Given the description of an element on the screen output the (x, y) to click on. 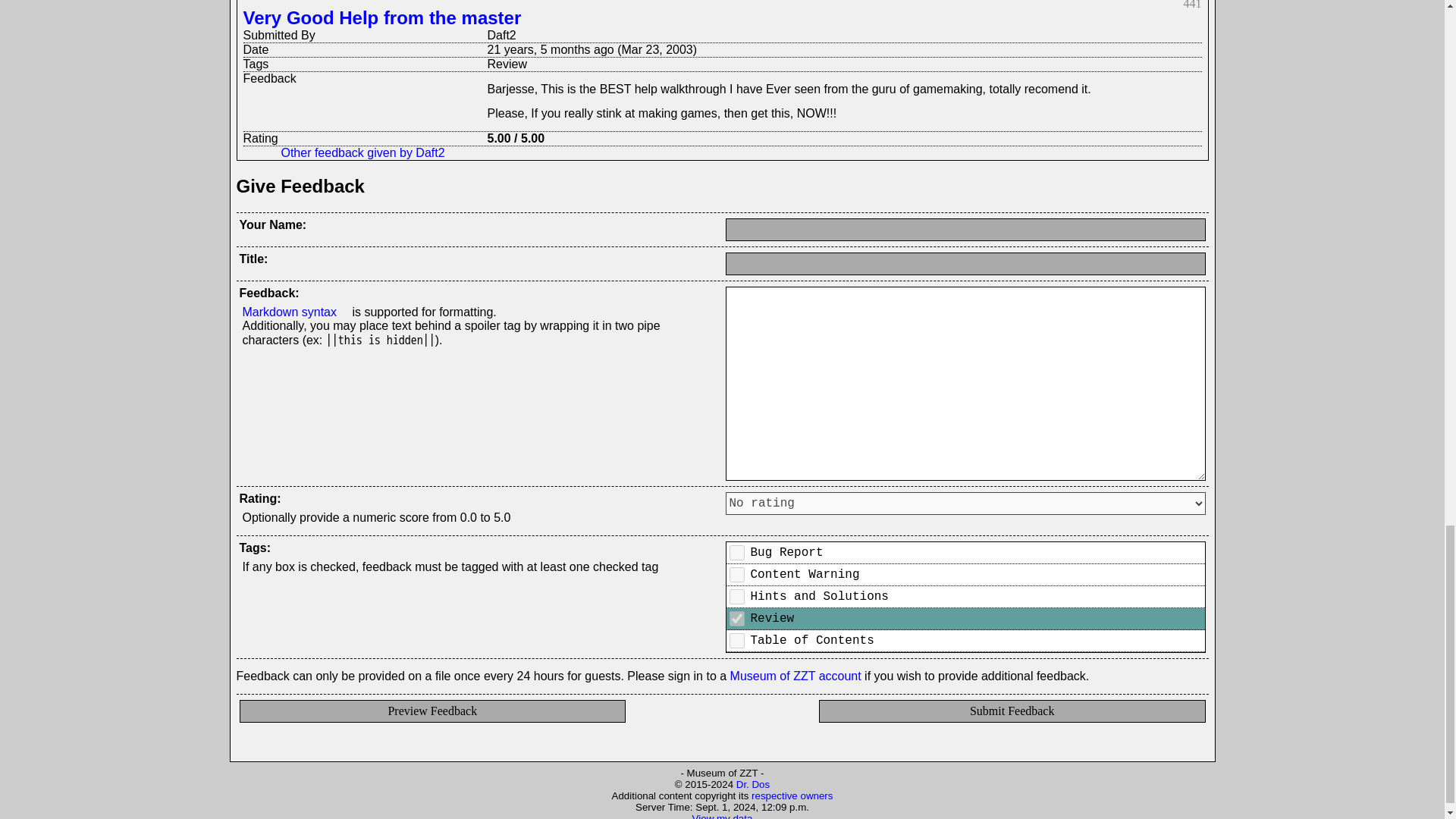
Submit Feedback (1011, 711)
3 (736, 552)
1 (736, 618)
5 (736, 640)
2 (736, 574)
4 (736, 596)
Preview Feedback (433, 711)
